Given the description of an element on the screen output the (x, y) to click on. 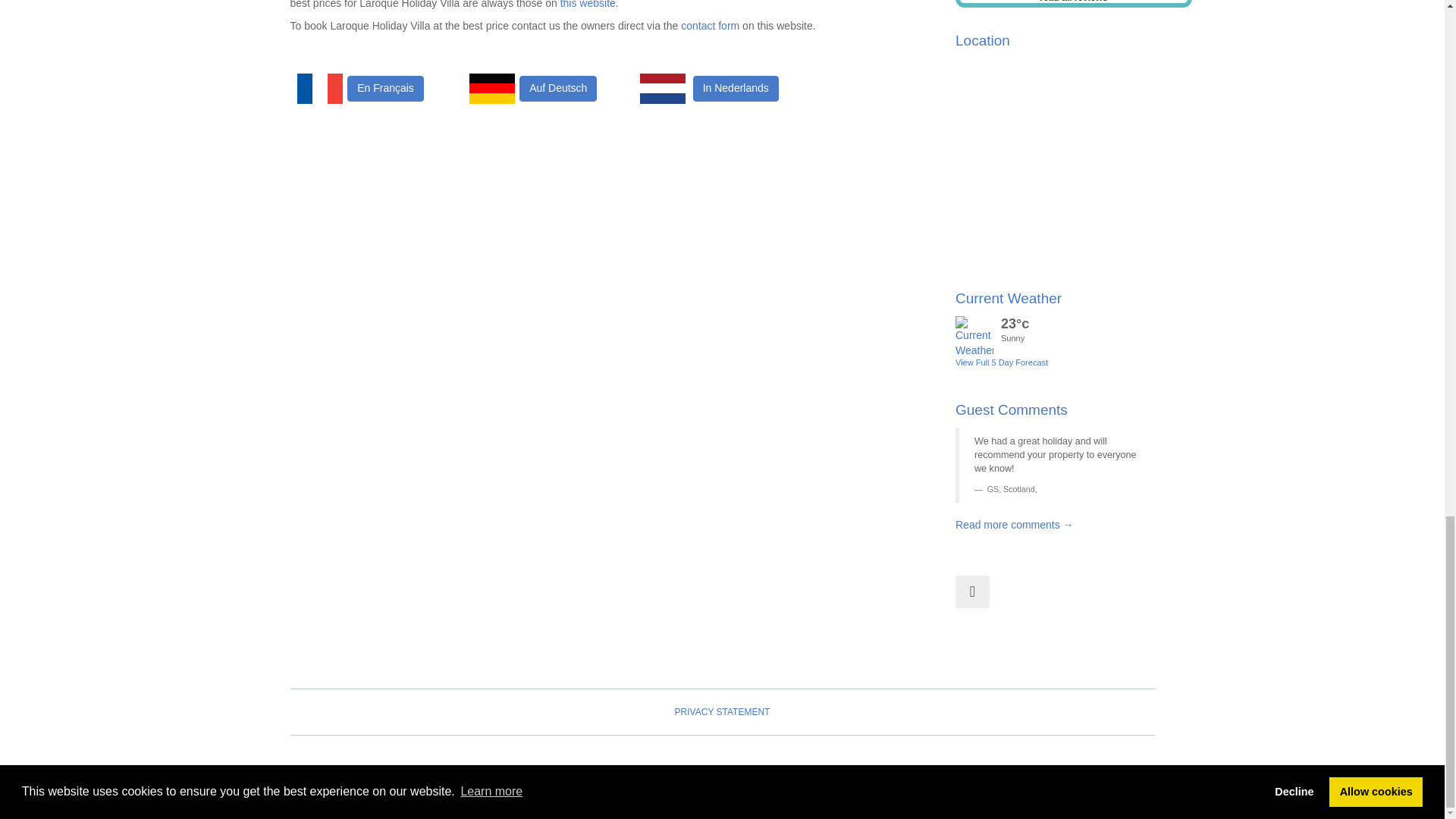
PromoteMyPlace.com (1098, 777)
Guestbook (1014, 524)
map (1054, 157)
